Given the description of an element on the screen output the (x, y) to click on. 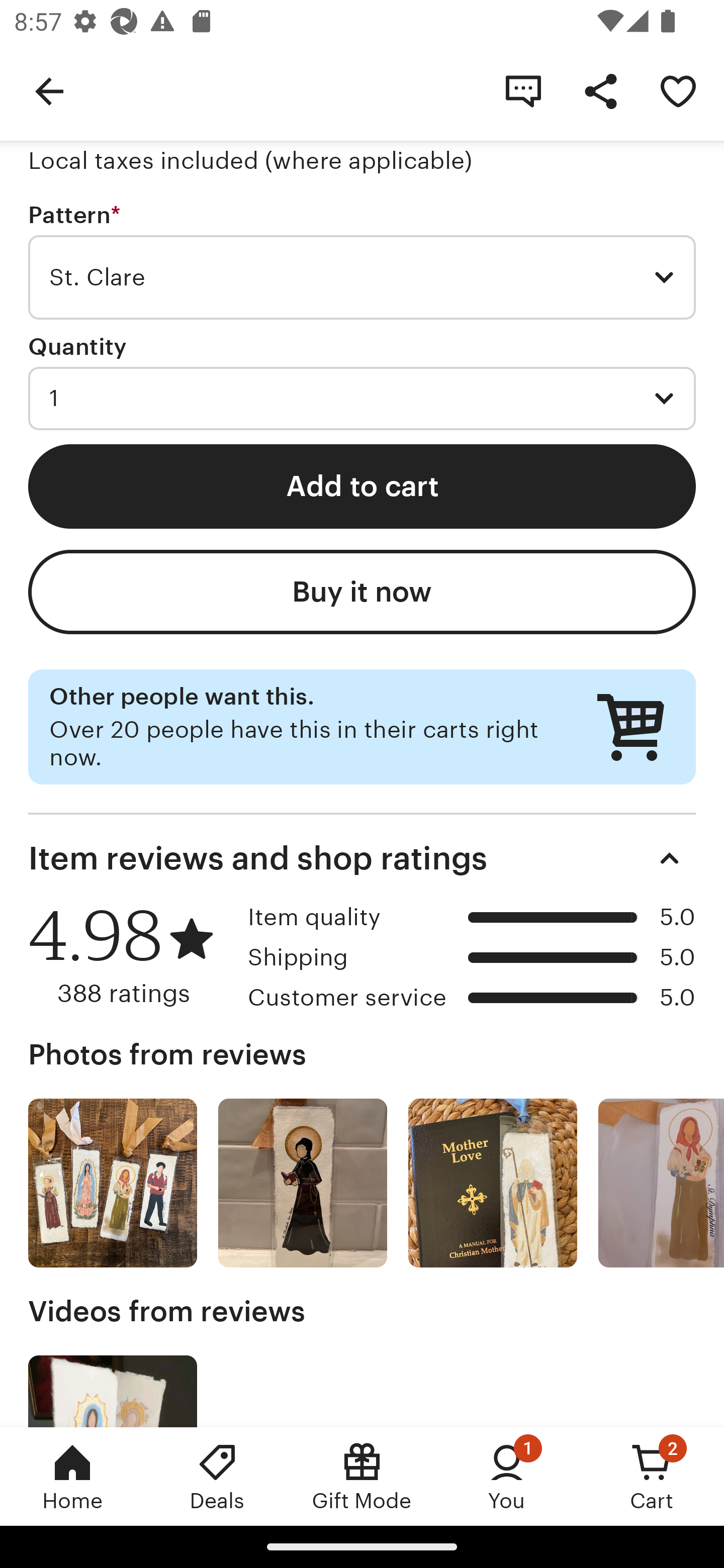
Navigate up (49, 90)
Contact shop (523, 90)
Share (600, 90)
Remove Watercolor Bookmarks from your favorites (678, 90)
Pattern * Required St. Clare (361, 260)
St. Clare (361, 277)
Quantity (77, 346)
1 (361, 397)
Add to cart (361, 485)
Buy it now (361, 591)
Item reviews and shop ratings (362, 858)
4.98 388 ratings (130, 956)
Photo from review (112, 1182)
Photo from review (302, 1182)
Photo from review (492, 1182)
Photo from review (661, 1182)
Deals (216, 1475)
Gift Mode (361, 1475)
You, 1 new notification You (506, 1475)
Cart, 2 new notifications Cart (651, 1475)
